Given the description of an element on the screen output the (x, y) to click on. 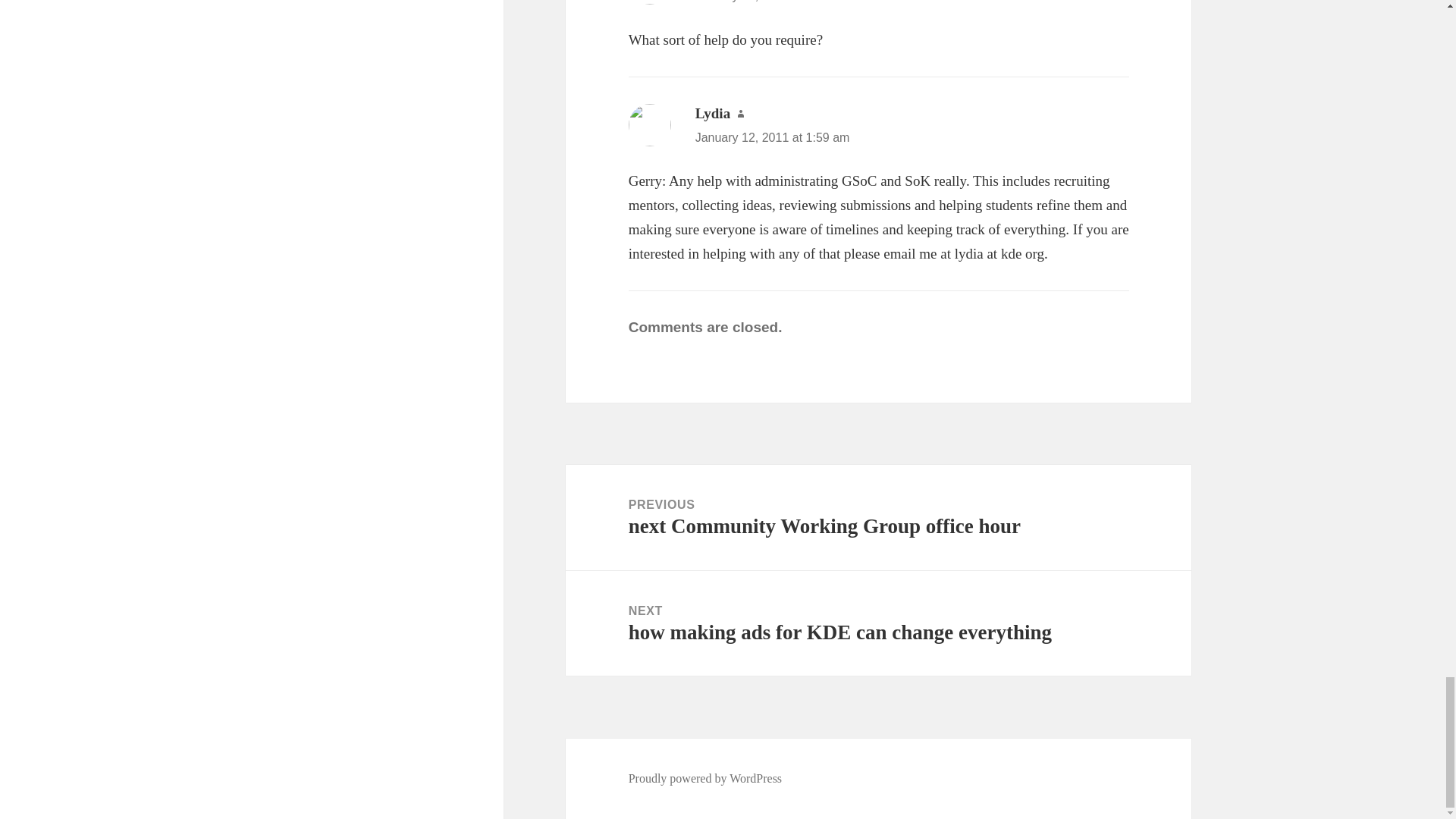
January 12, 2011 at 1:51 am (772, 1)
